Given the description of an element on the screen output the (x, y) to click on. 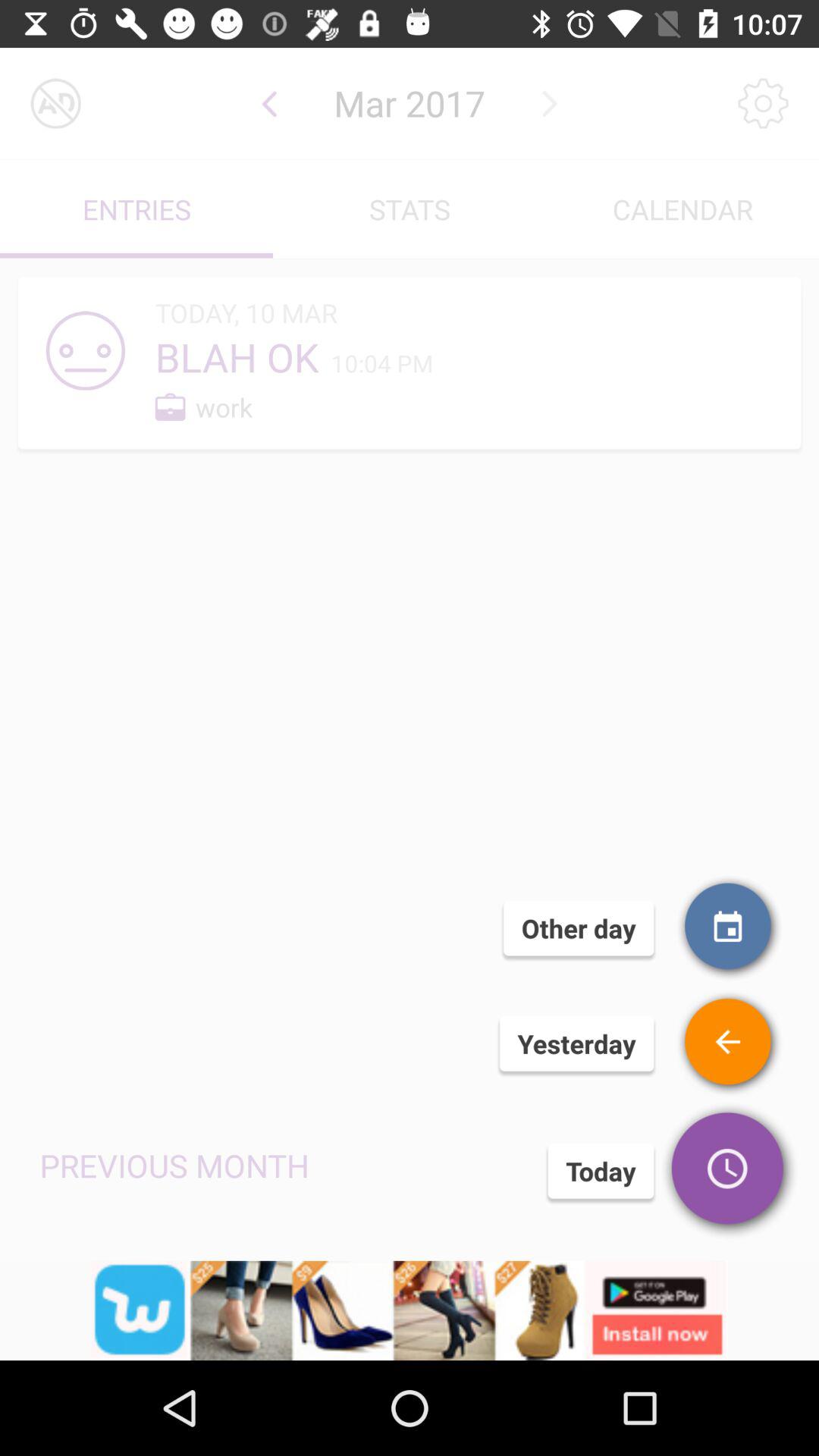
go to review (729, 1043)
